Given the description of an element on the screen output the (x, y) to click on. 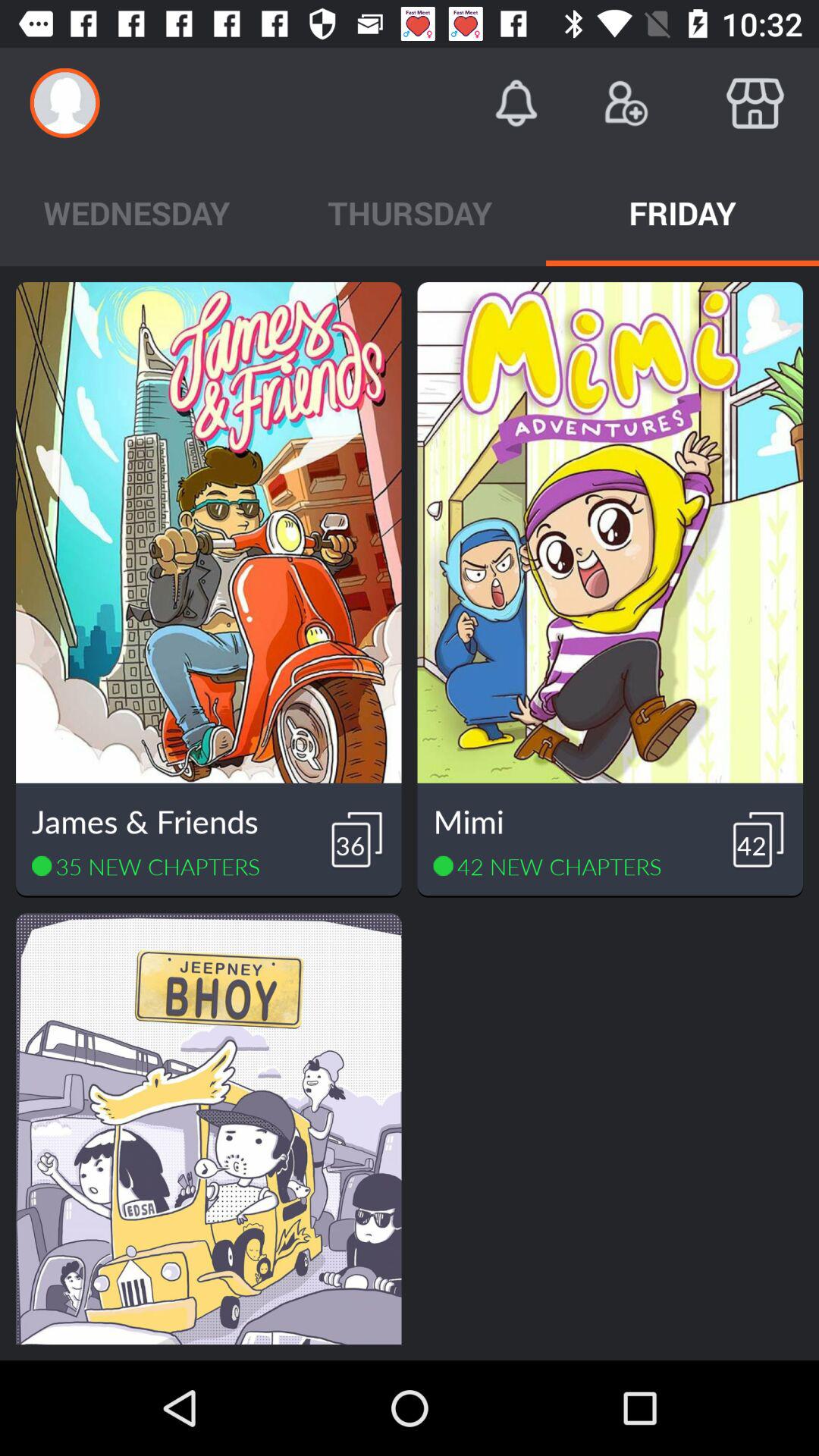
open wednesday  icon (136, 212)
